Given the description of an element on the screen output the (x, y) to click on. 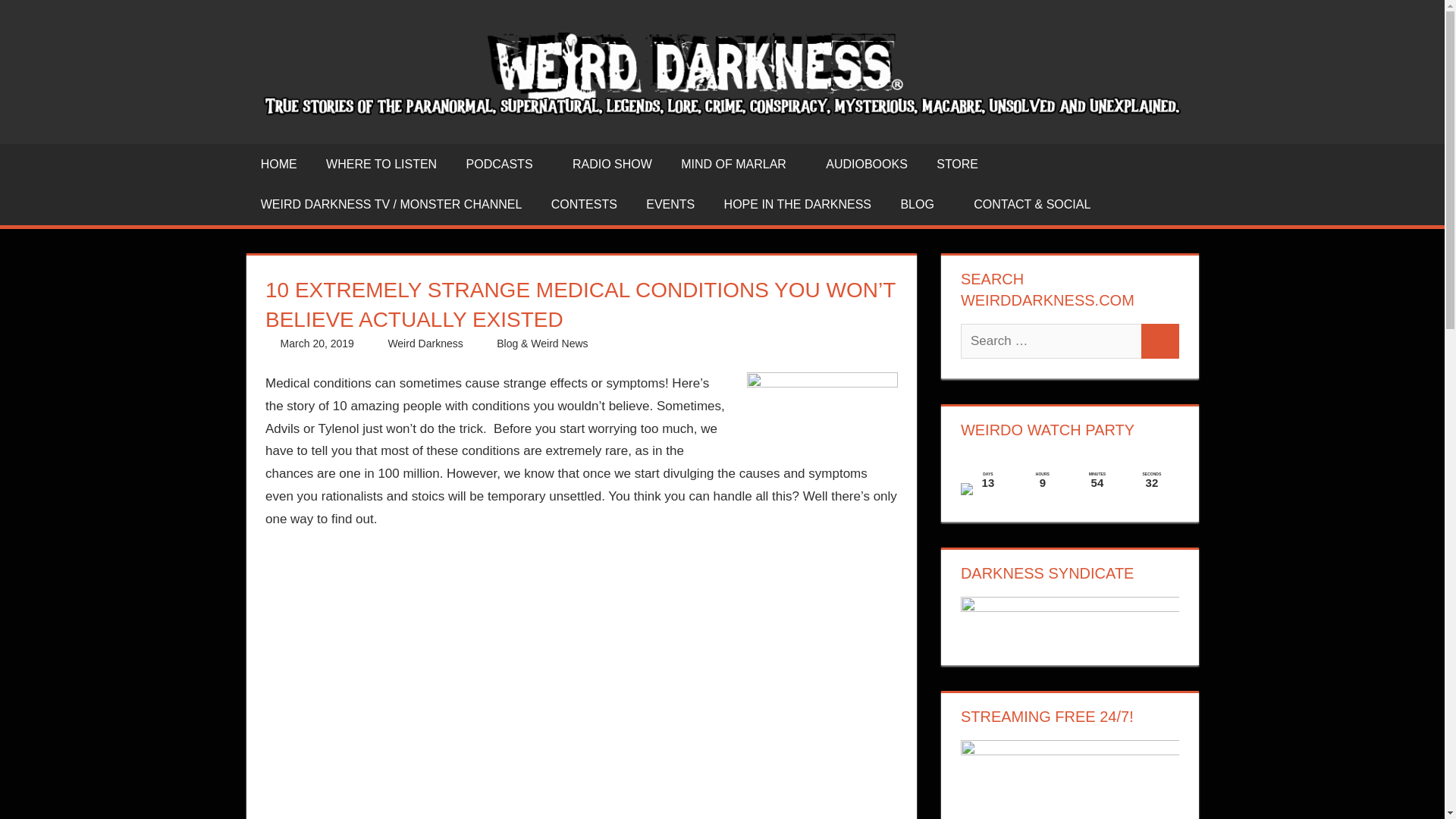
RADIO SHOW (611, 164)
AUDIOBOOKS (865, 164)
PODCASTS (504, 164)
Search for: (1050, 340)
10:53 am (317, 343)
View all posts by Weird Darkness (425, 343)
MIND OF MARLAR (738, 164)
WHERE TO LISTEN (381, 164)
STORE (956, 164)
HOME (278, 164)
